Given the description of an element on the screen output the (x, y) to click on. 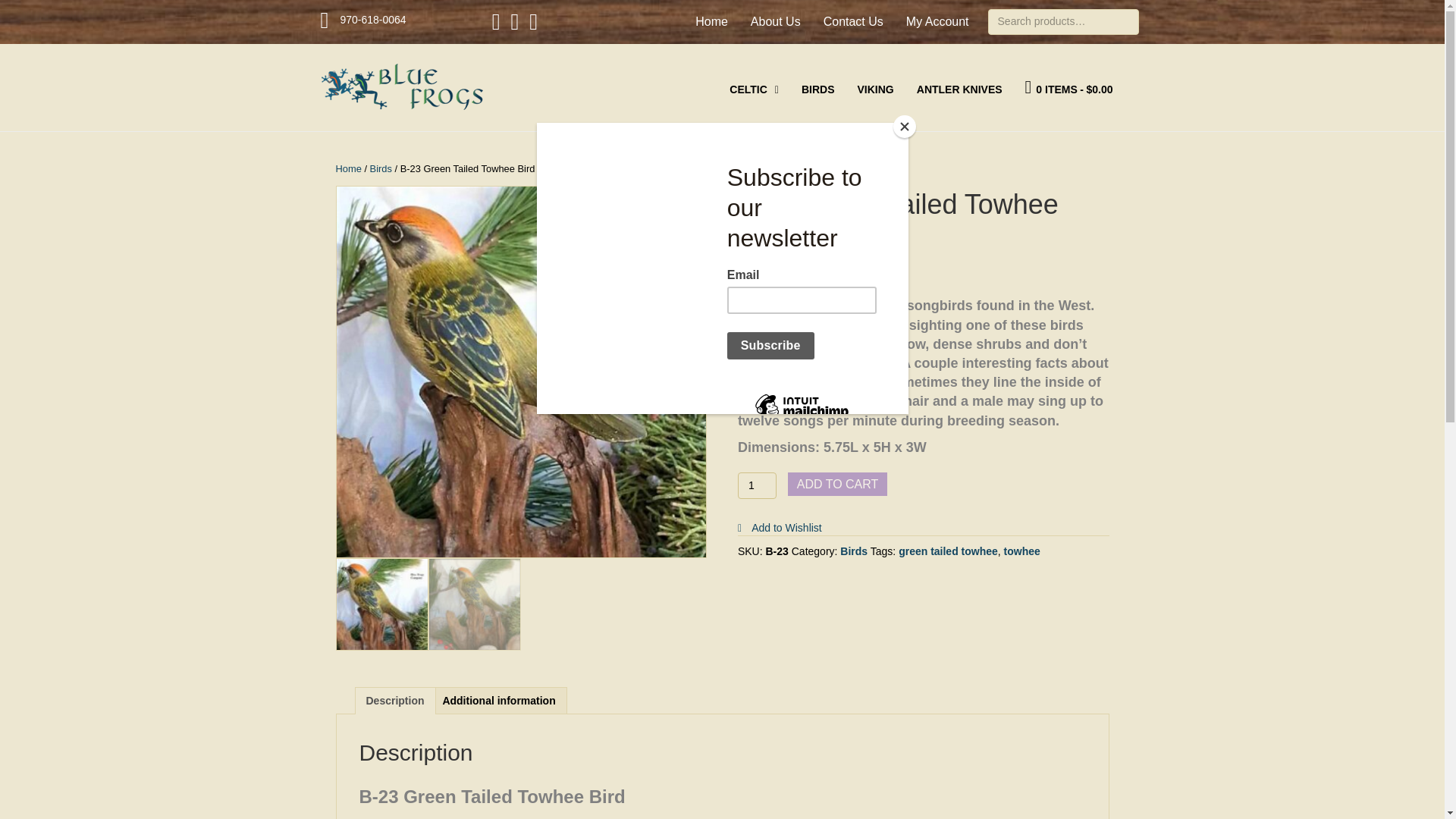
Start shopping (1069, 87)
CELTIC (754, 89)
Home (711, 22)
1 (757, 485)
Birds (380, 168)
BIRDS (818, 89)
Search (29, 12)
ANTLER KNIVES (959, 89)
My Account (937, 22)
About Us (775, 22)
Home (347, 168)
BFC-logo-color (401, 87)
VIKING (875, 89)
Contact Us (853, 22)
